Given the description of an element on the screen output the (x, y) to click on. 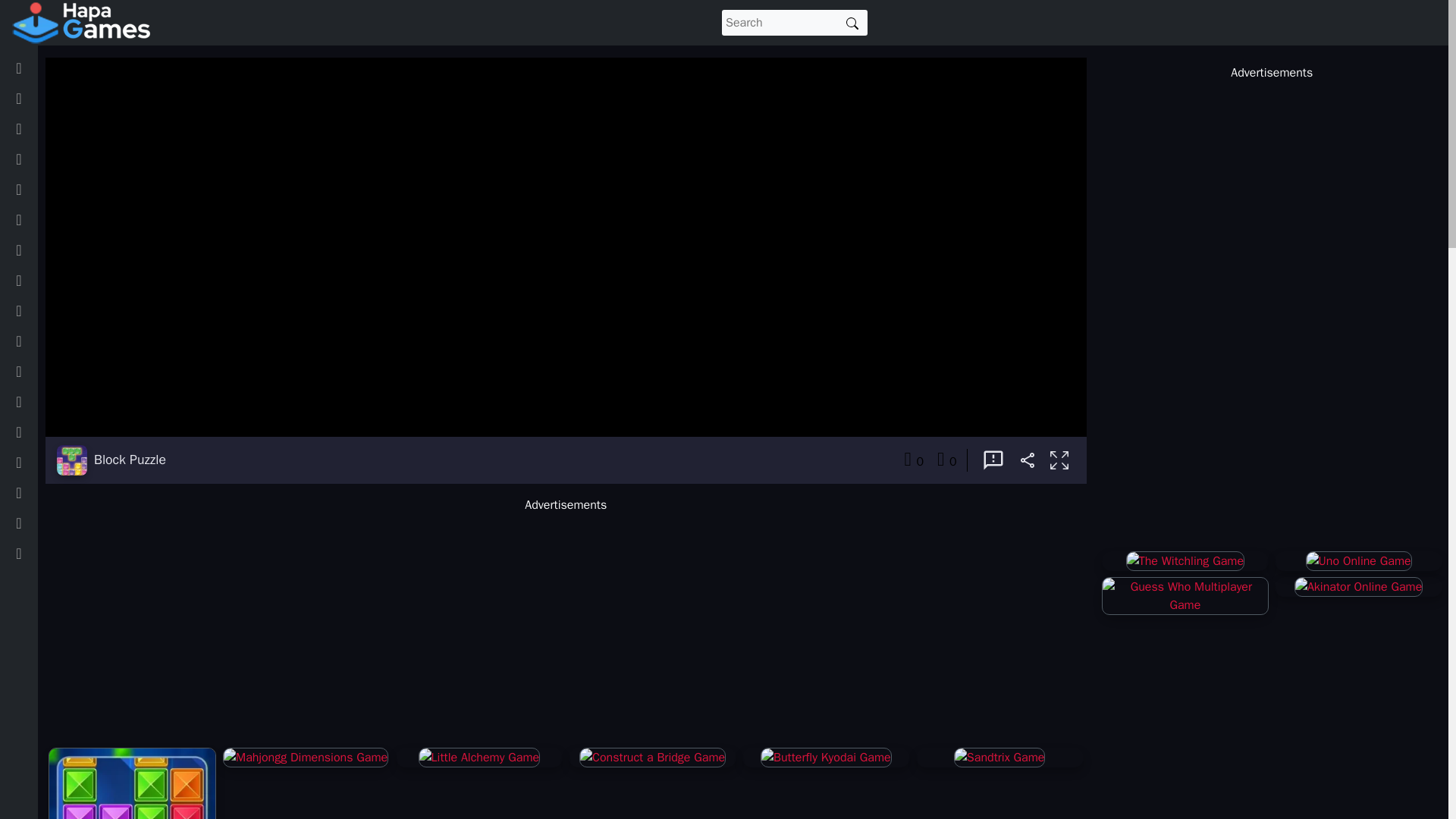
Sports (39, 401)
Racing (39, 431)
Report a bug (992, 459)
Home (37, 68)
Action (37, 159)
Driving (39, 280)
Trending Games (62, 128)
Adventure (47, 189)
Airplane (42, 553)
